Given the description of an element on the screen output the (x, y) to click on. 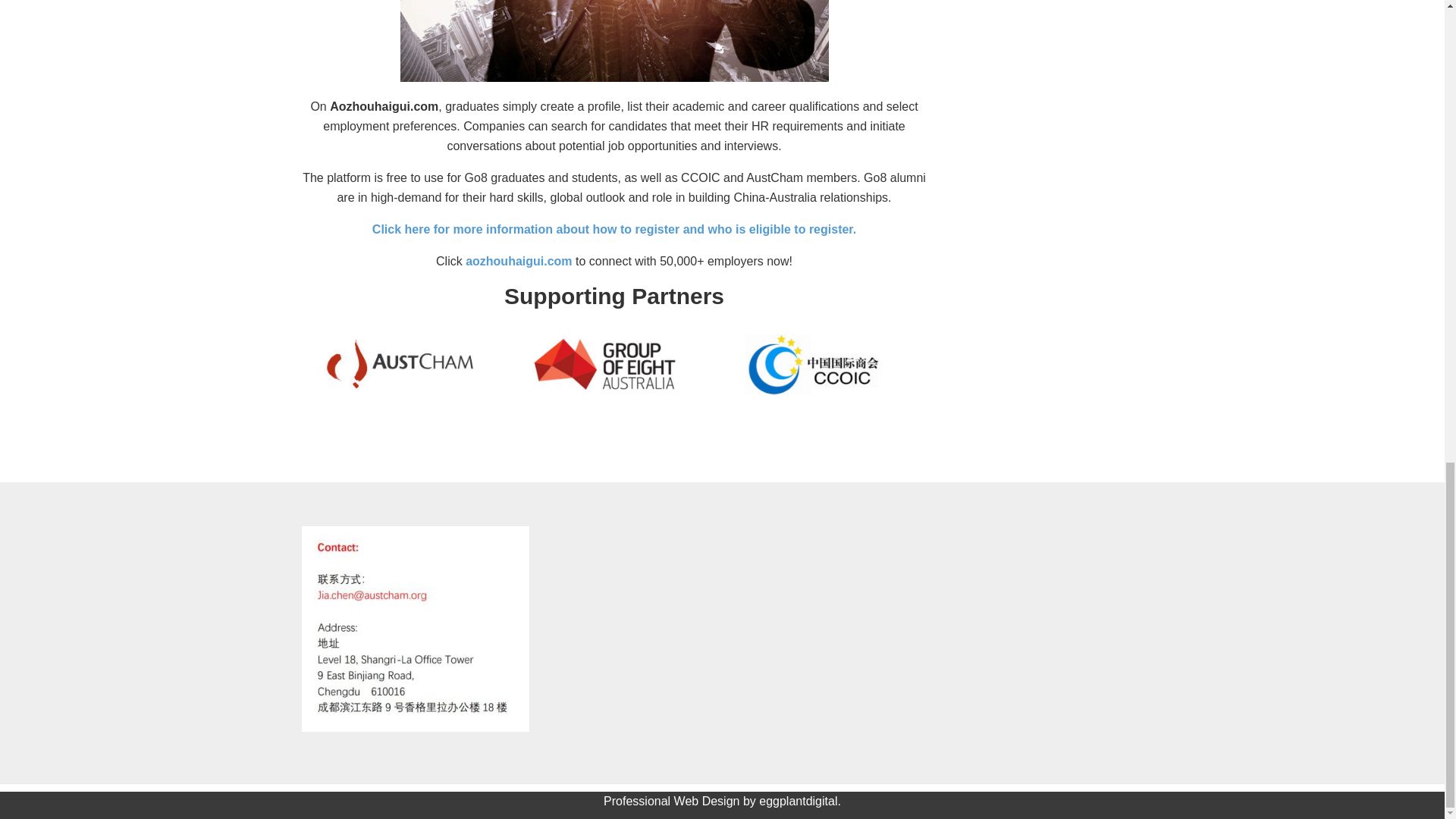
aozhouhaigui.com (520, 260)
Professional Web Design (671, 800)
